Given the description of an element on the screen output the (x, y) to click on. 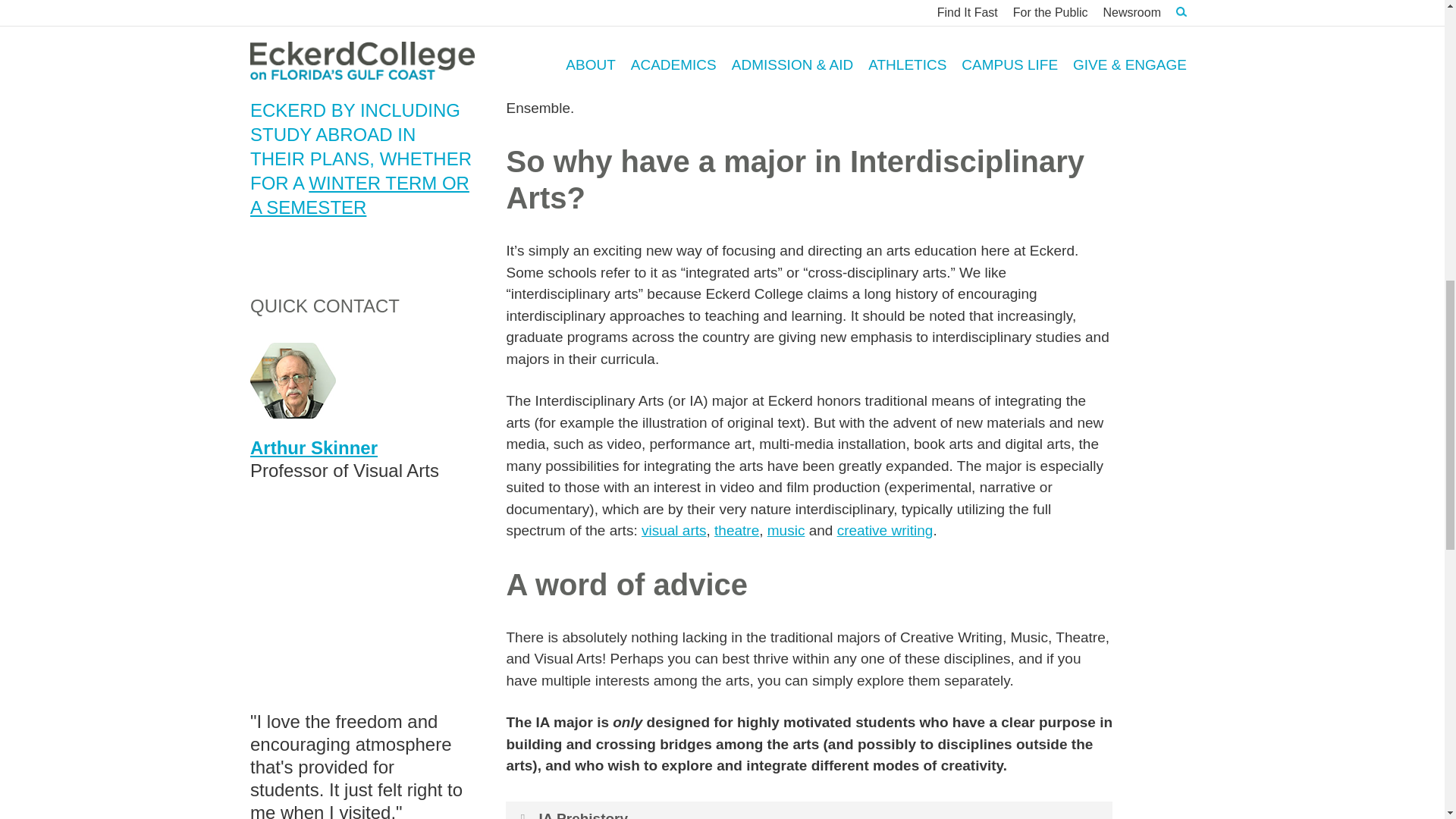
globe (263, 12)
